Given the description of an element on the screen output the (x, y) to click on. 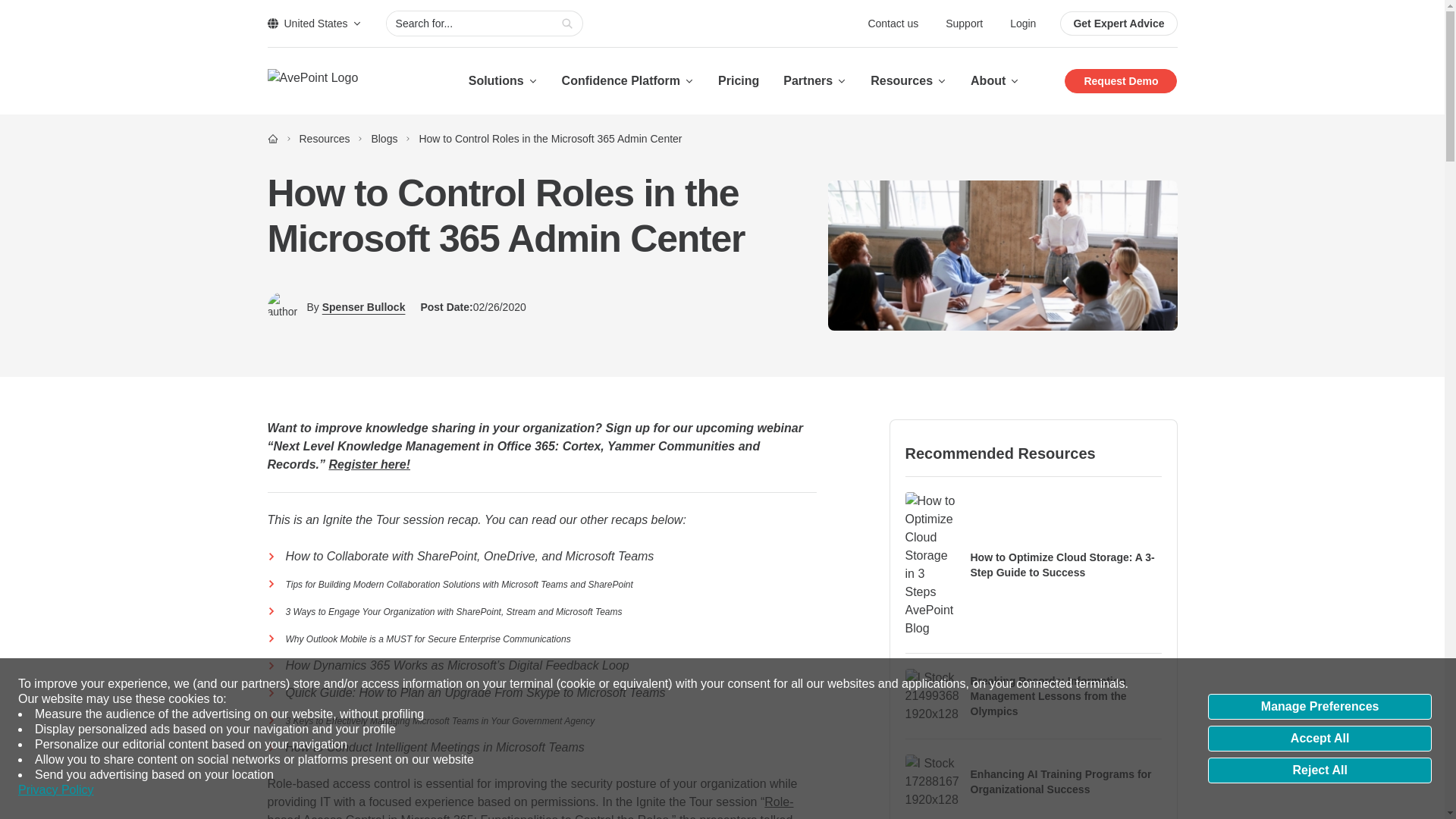
Privacy Policy (55, 789)
Solutions (502, 80)
Search (566, 23)
Manage Preferences (1319, 706)
Accept All (1319, 738)
Contact us (894, 23)
Reject All (1319, 769)
United States (313, 23)
Confidence Platform (628, 80)
Login (1022, 23)
